Given the description of an element on the screen output the (x, y) to click on. 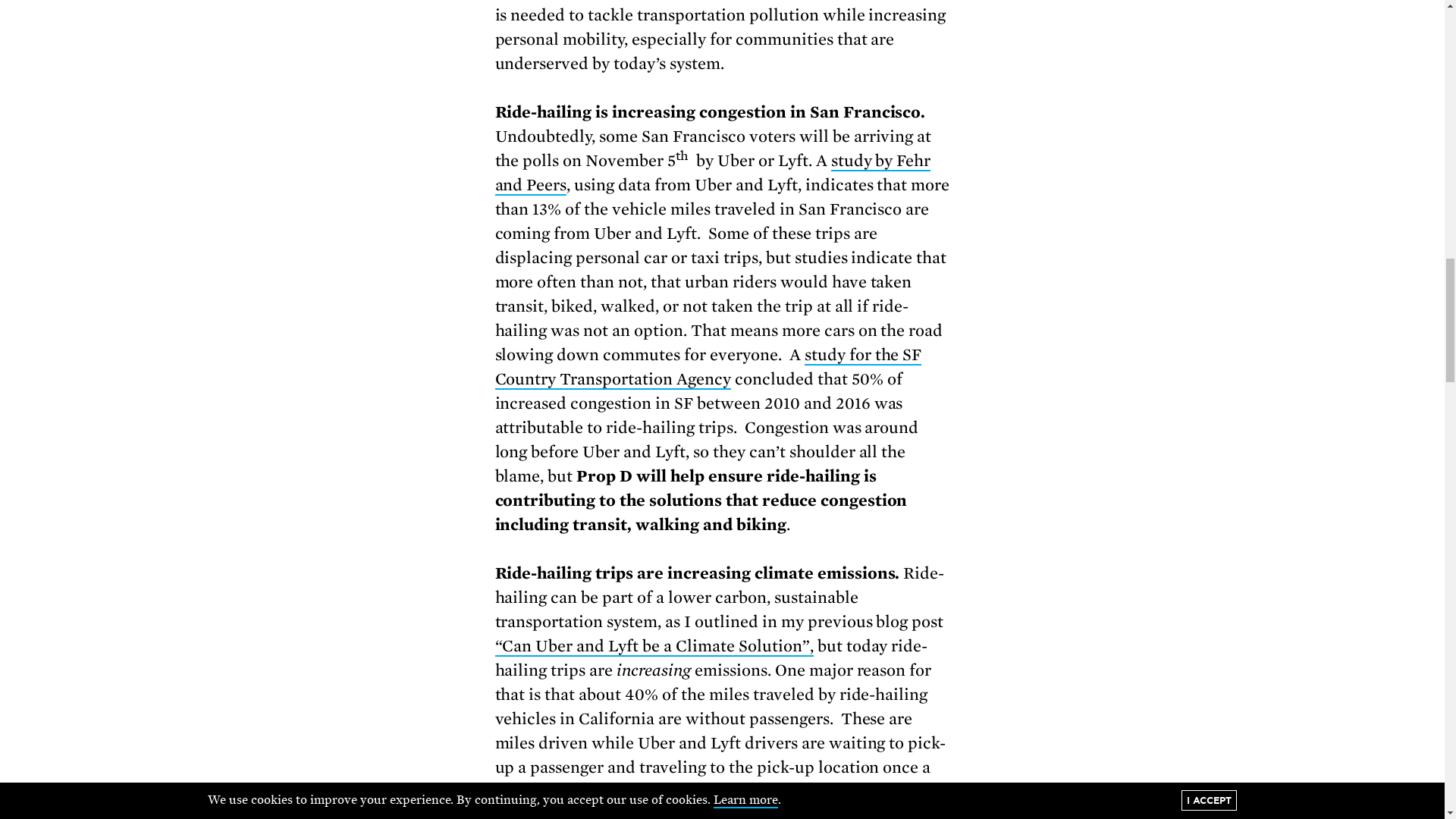
study by Fehr and Peers (712, 173)
study for the SF Country Transportation Agency (708, 367)
Preliminary estimates (710, 792)
